Given the description of an element on the screen output the (x, y) to click on. 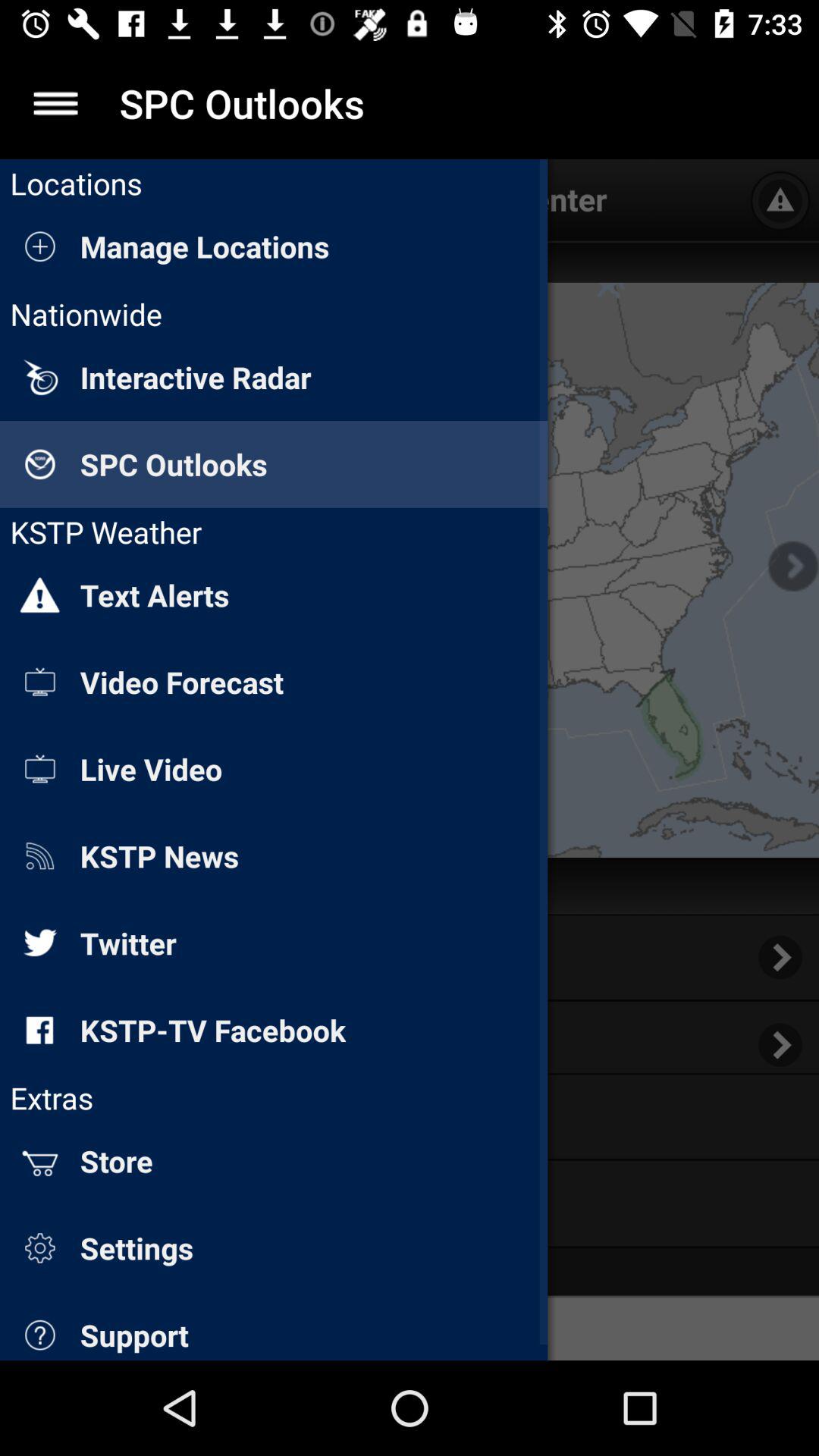
open item next to the spc outlooks item (55, 103)
